Given the description of an element on the screen output the (x, y) to click on. 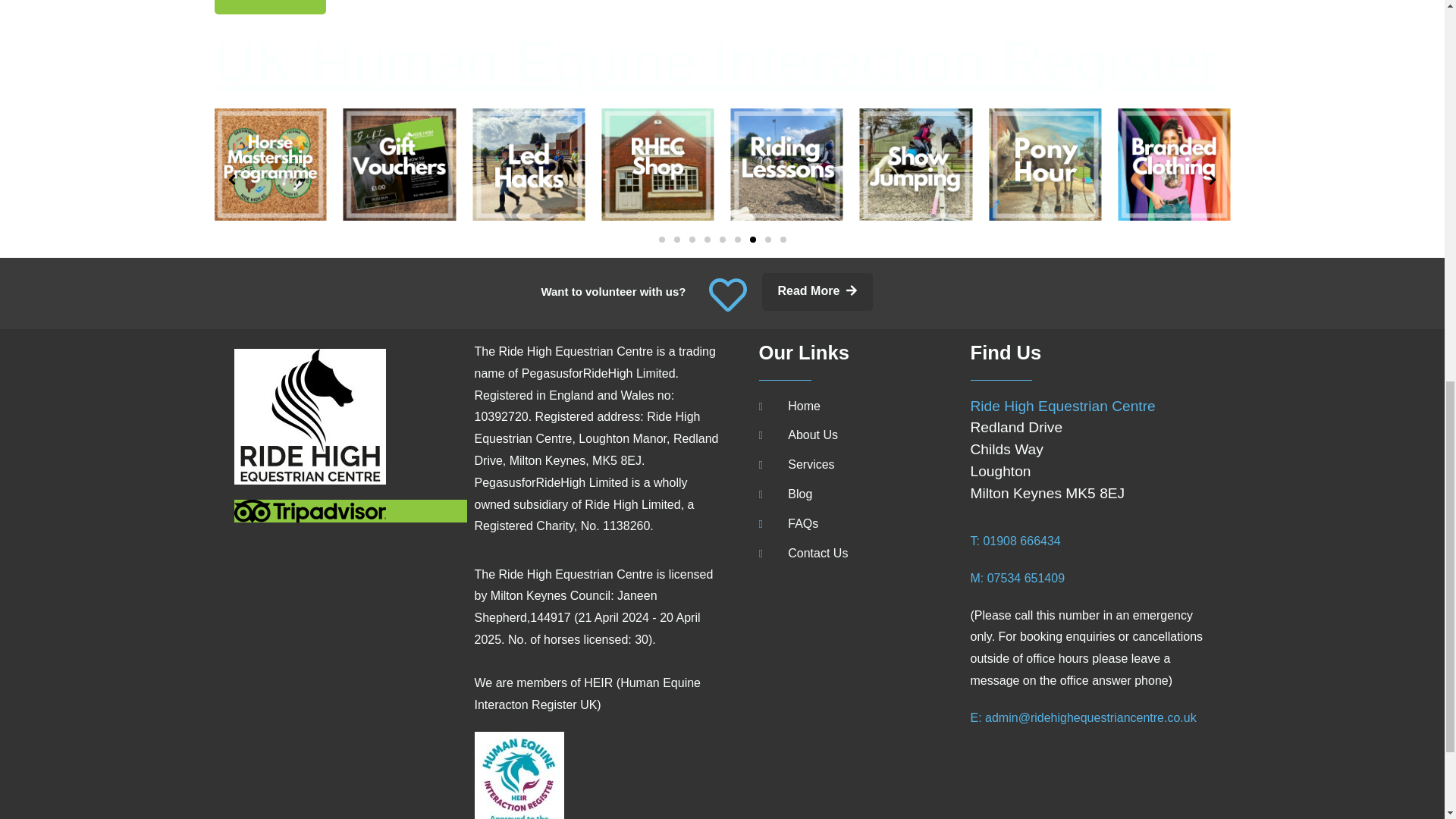
HEIR Approved 2324 (519, 775)
